Given the description of an element on the screen output the (x, y) to click on. 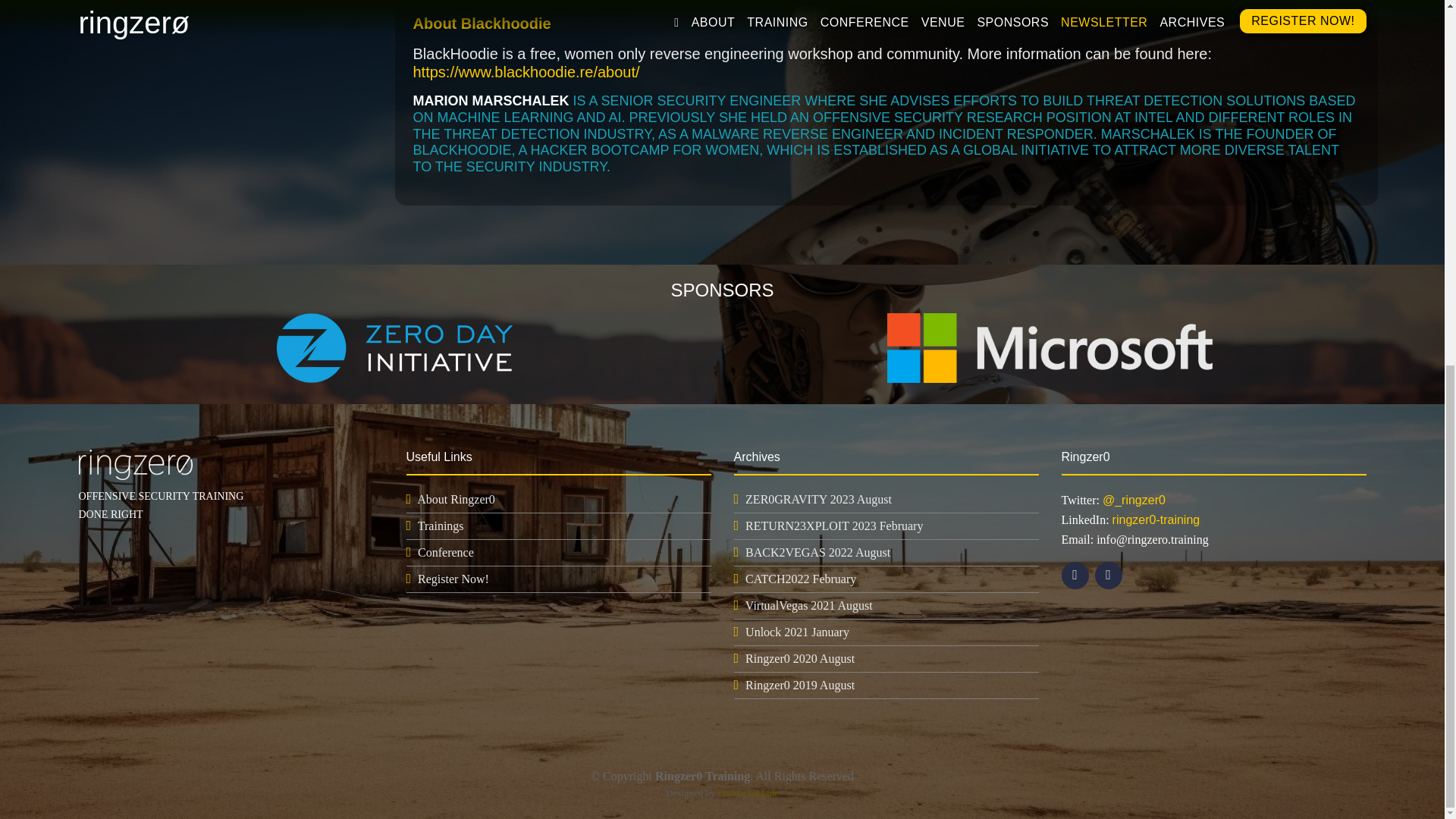
Conference (445, 552)
Trainings (440, 525)
ZER0GRAVITY 2023 August (818, 499)
About Ringzer0 (455, 499)
Ringzer0 2020 August (799, 658)
BACK2VEGAS 2022 August (817, 552)
CATCH2022 February (800, 578)
RETURN23XPLOIT 2023 February (834, 525)
VirtualVegas 2021 August (808, 604)
Ringzer0 2019 August (799, 684)
Register Now! (453, 578)
BootstrapMade (747, 792)
Unlock 2021 January (796, 631)
ringzer0-training (1155, 519)
